Given the description of an element on the screen output the (x, y) to click on. 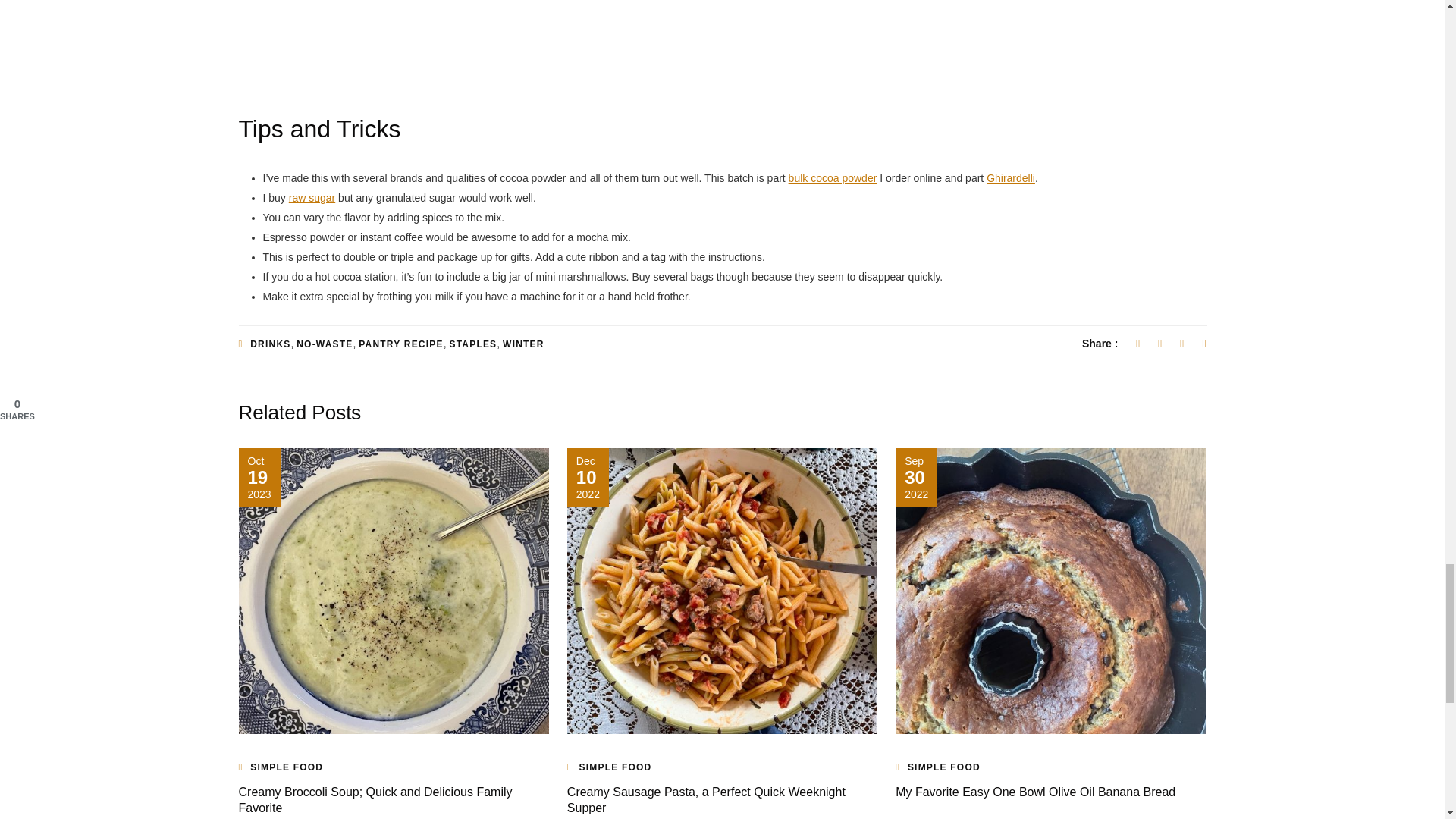
Ghirardelli (1011, 177)
raw sugar (311, 197)
My Favorite Easy One Bowl Olive Oil Banana Bread (1034, 791)
NO-WASTE (324, 344)
bulk cocoa powder (833, 177)
bulk cocoa powder (833, 177)
STAPLES (472, 344)
SIMPLE FOOD (286, 767)
Ghirardelli (1011, 177)
SIMPLE FOOD (615, 767)
DRINKS (269, 344)
raw sugar (311, 197)
Creamy Broccoli Soup; Quick and Delicious Family Favorite (375, 799)
PANTRY RECIPE (400, 344)
WINTER (523, 344)
